Given the description of an element on the screen output the (x, y) to click on. 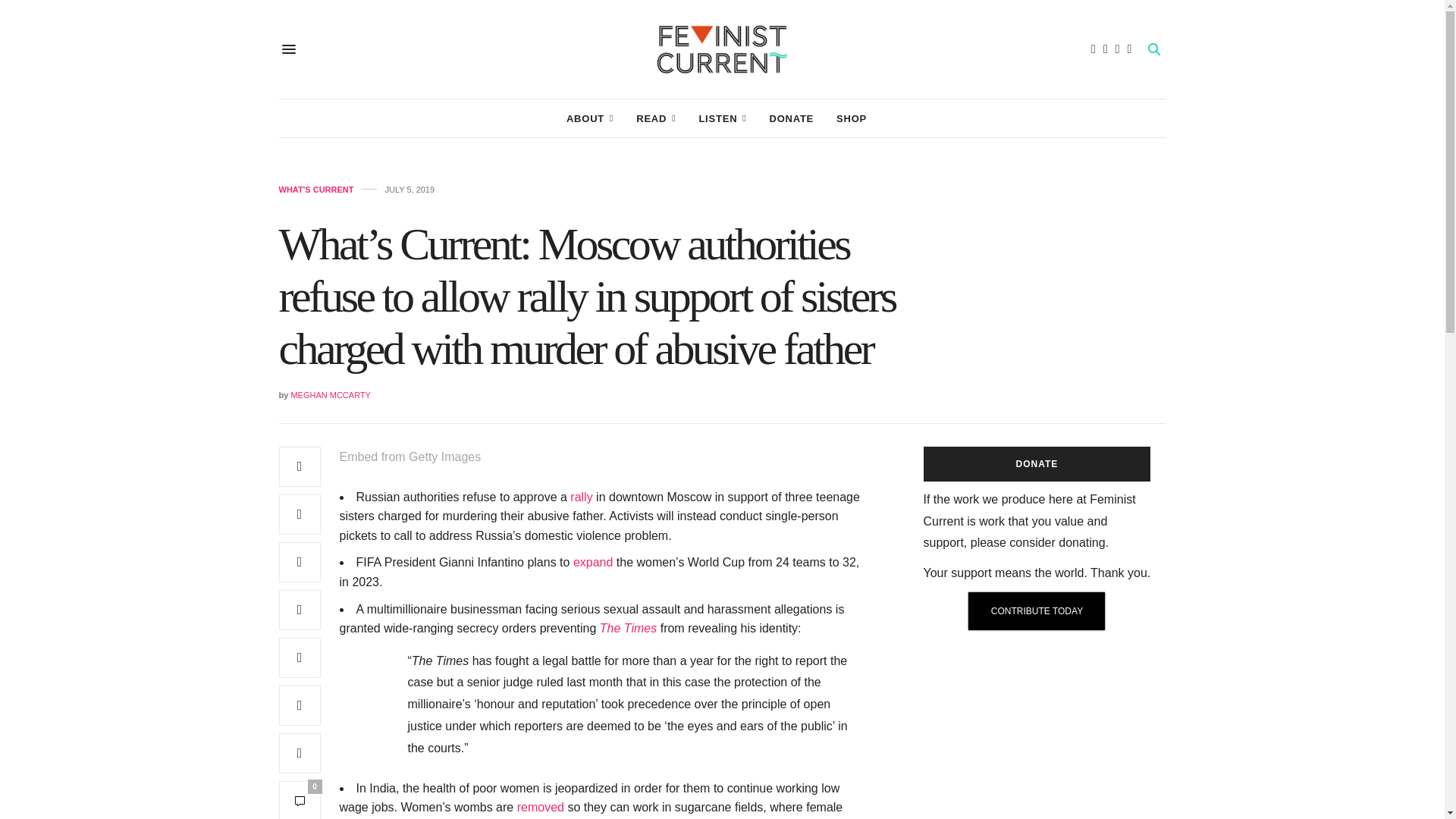
Posts by Meghan McCarty (330, 394)
ABOUT (589, 118)
READ (655, 118)
WHAT'S CURRENT (316, 189)
LISTEN (721, 118)
Feminist Current (722, 49)
DONATE (790, 118)
